Given the description of an element on the screen output the (x, y) to click on. 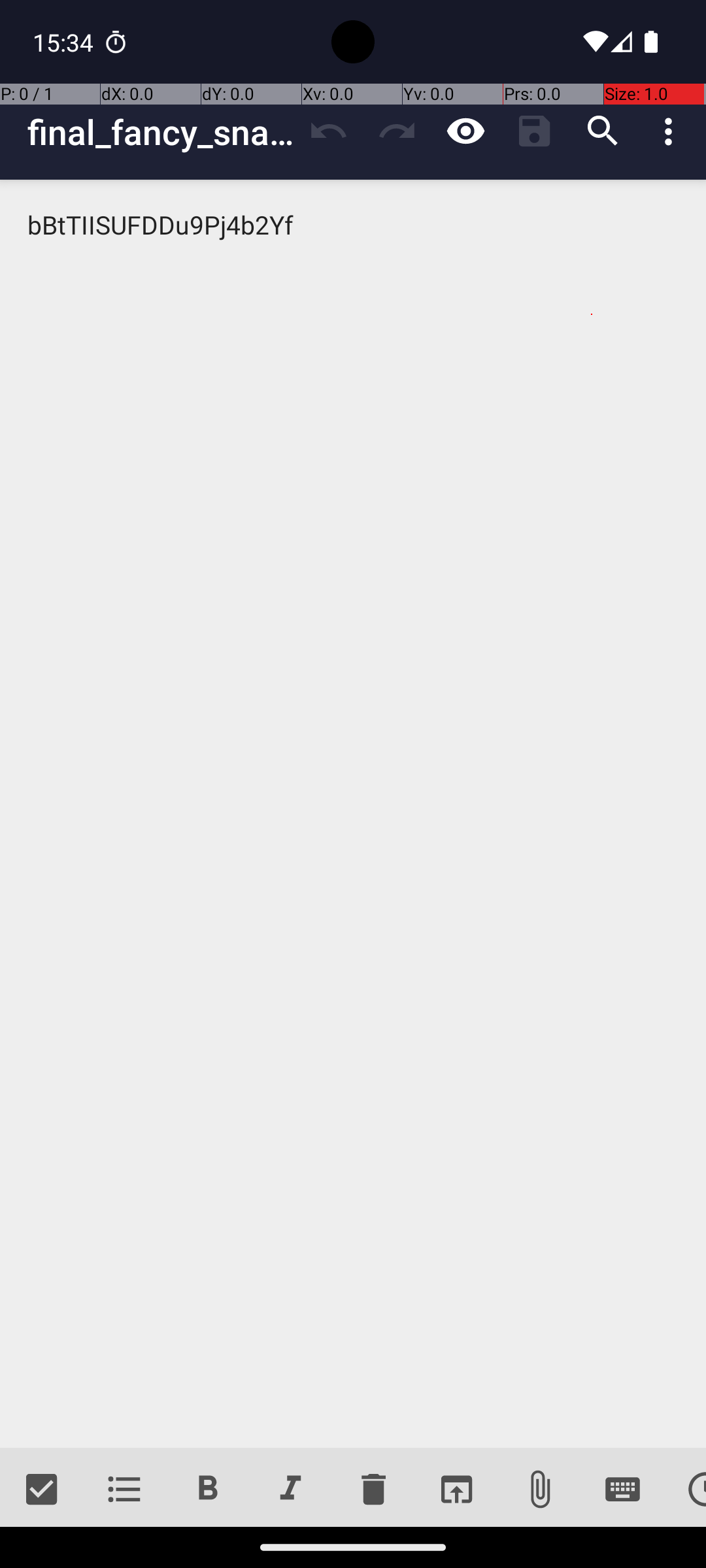
final_fancy_snake Element type: android.widget.TextView (160, 131)
bBtTIISUFDDu9Pj4b2Yf
 Element type: android.widget.EditText (353, 813)
